Given the description of an element on the screen output the (x, y) to click on. 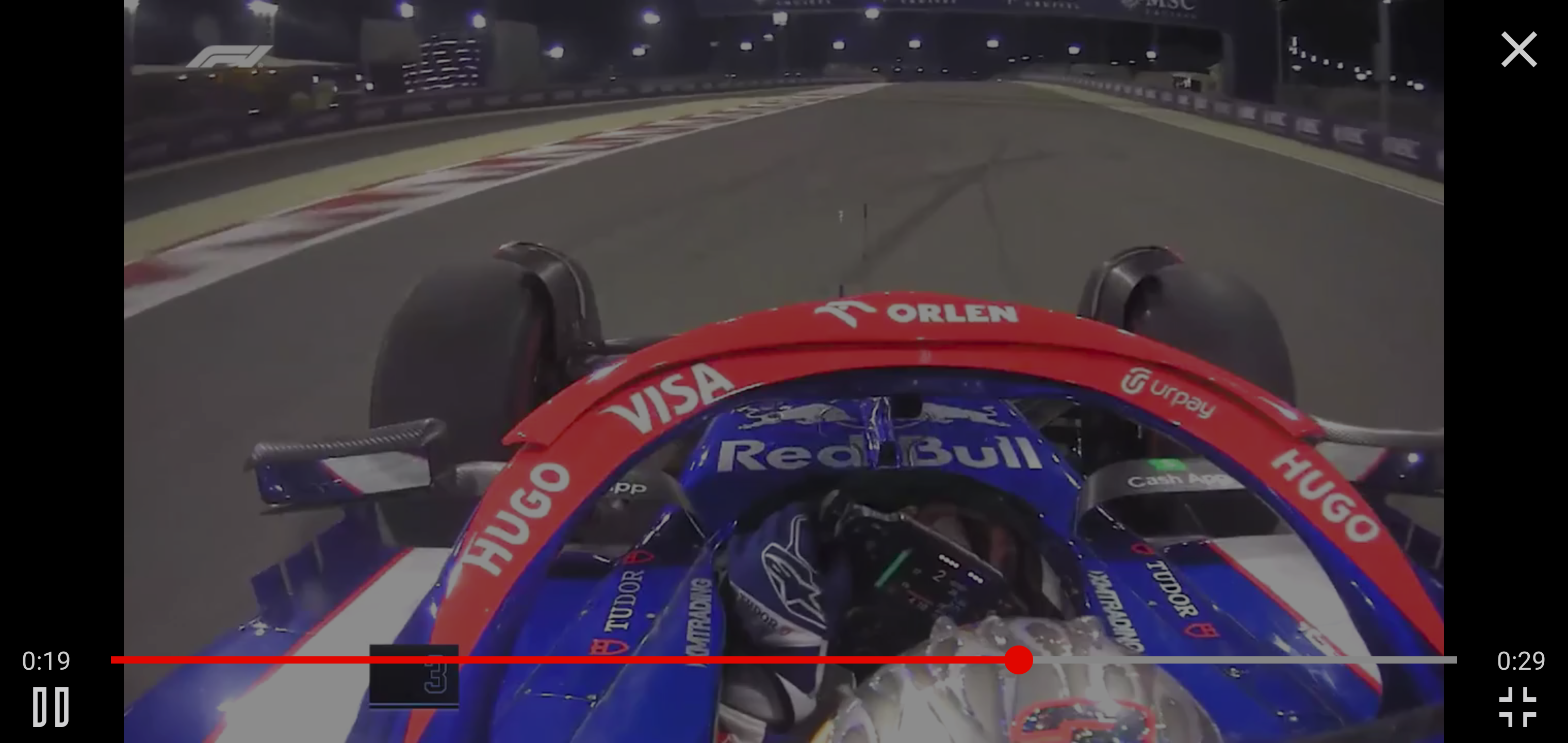
 Close (1518, 49)
B Pause (50, 706)
D Exit Fullscreen (1517, 706)
